Given the description of an element on the screen output the (x, y) to click on. 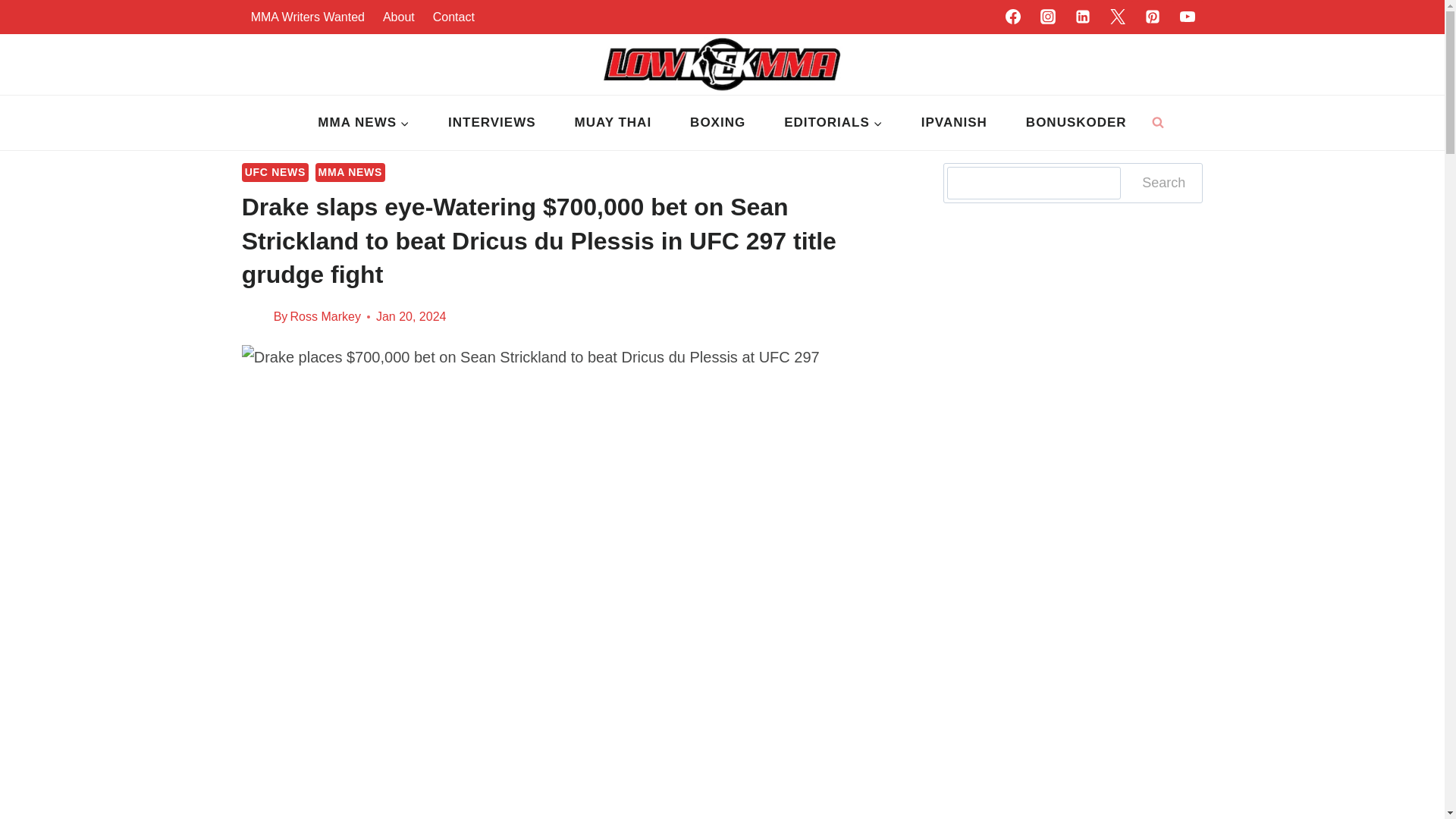
INTERVIEWS (491, 122)
BOXING (718, 122)
EDITORIALS (833, 122)
MMA Writers Wanted (307, 17)
About (398, 17)
Contact (453, 17)
BONUSKODER (1075, 122)
MMA NEWS (363, 122)
IPVANISH (953, 122)
